Given the description of an element on the screen output the (x, y) to click on. 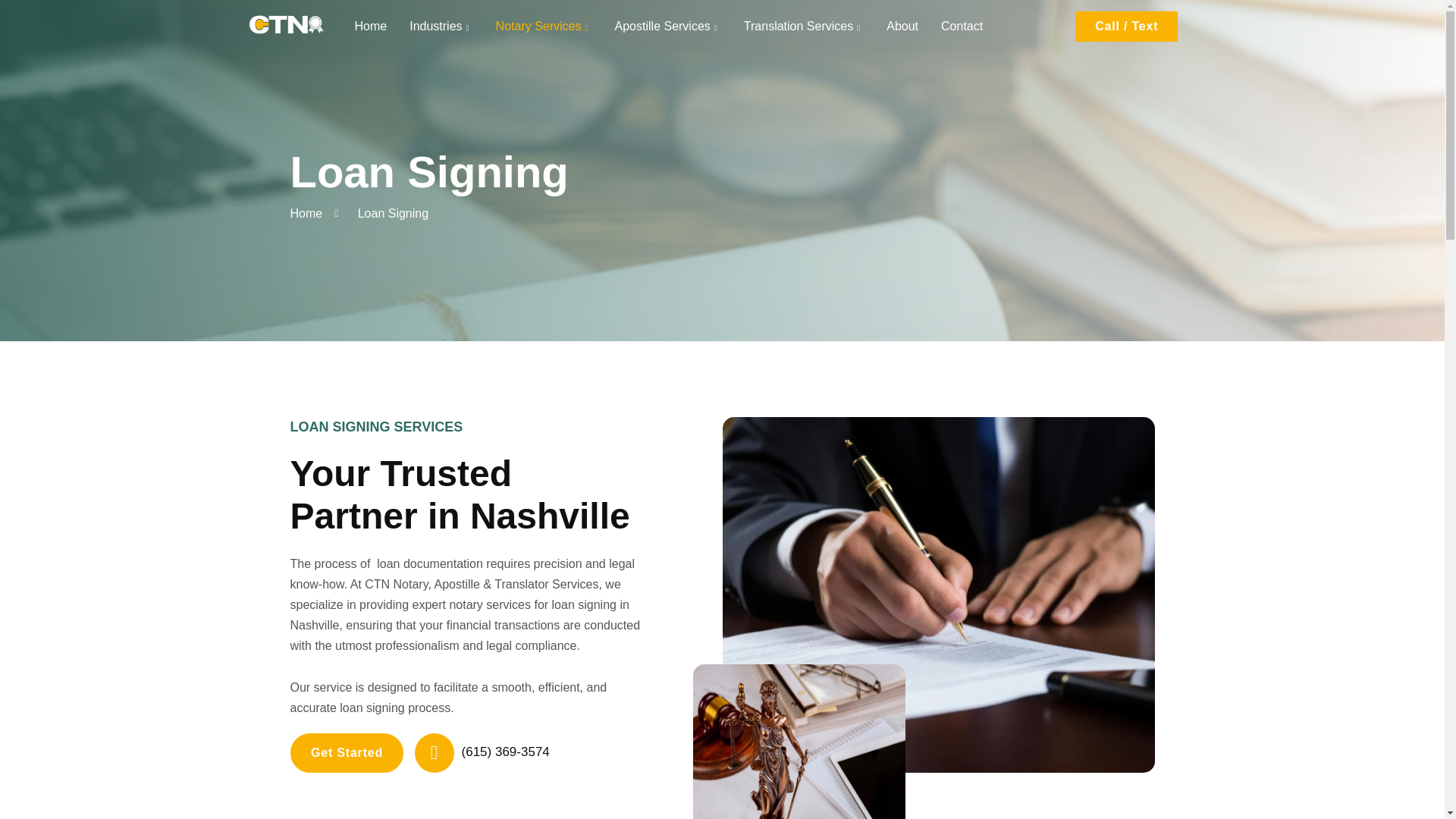
Translation Services (803, 26)
About (902, 26)
Apostille Services (668, 26)
Contact (962, 26)
Get Started (346, 753)
Home (369, 26)
Notary Services (544, 26)
Industries (440, 26)
Home (305, 213)
